Given the description of an element on the screen output the (x, y) to click on. 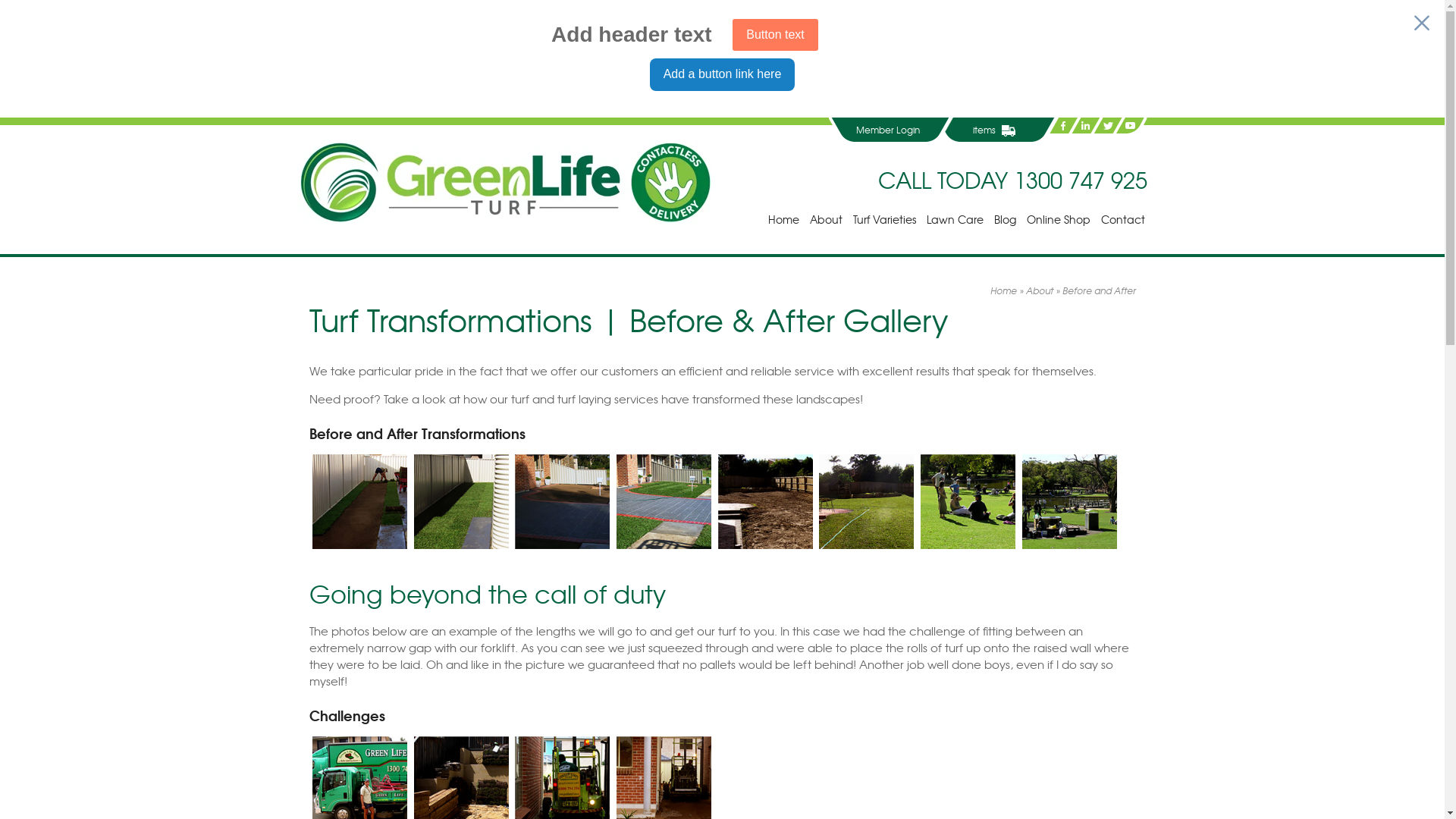
Blog Element type: text (1004, 218)
Beautiful turf for family picnics Element type: hover (1096, 501)
Lawn Care Element type: text (954, 218)
Home Element type: text (1003, 290)
Facebook Element type: hover (1061, 125)
About Element type: text (1038, 290)
items Element type: text (993, 129)
Twitter Element type: hover (1107, 125)
Turf Varieties Element type: text (884, 218)
YouTube Element type: hover (1129, 125)
Transformed - beautiful fresh laid turf! Element type: hover (690, 501)
About Element type: text (825, 218)
After soil preparation before laying new turf Element type: hover (589, 501)
Member Login Element type: text (887, 129)
Laying the turf Element type: hover (386, 501)
Online Shop Element type: text (1057, 218)
Home Element type: text (783, 218)
1300 747 925 Element type: text (1079, 179)
LinkedIn Element type: hover (1084, 125)
Beautiful turf for socialising Element type: hover (995, 501)
Contact Element type: text (1122, 218)
Needing a lot of work here... Element type: hover (792, 501)
Transformed - beautiful new turf! Element type: hover (488, 501)
Transformed - beautiful fresh laid turf! Element type: hover (893, 501)
